Given the description of an element on the screen output the (x, y) to click on. 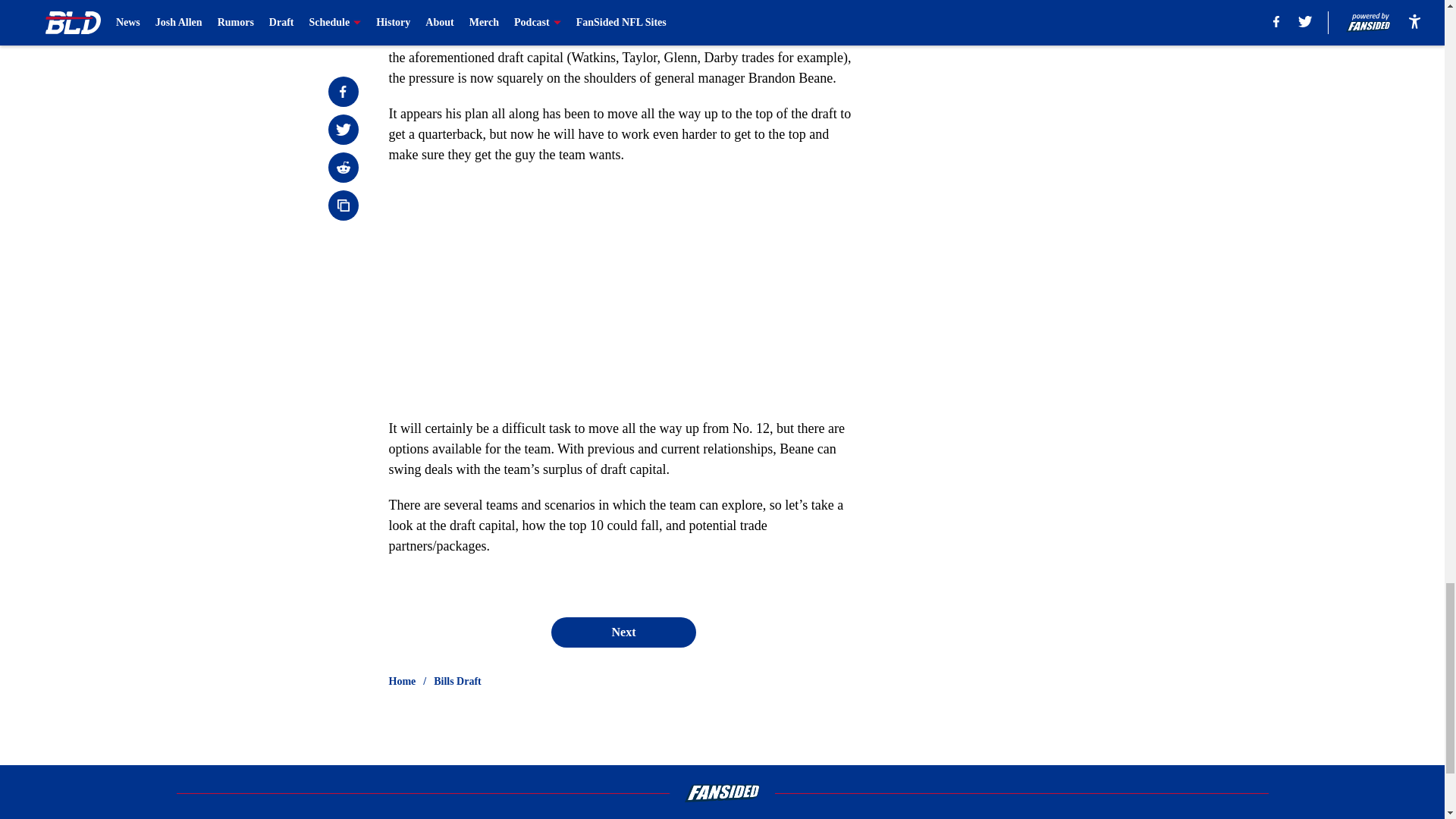
Home (401, 681)
Next (622, 632)
Mobile Apps (1045, 818)
Bills Draft (457, 681)
About (373, 818)
Openings (538, 818)
Contact (722, 818)
